Given the description of an element on the screen output the (x, y) to click on. 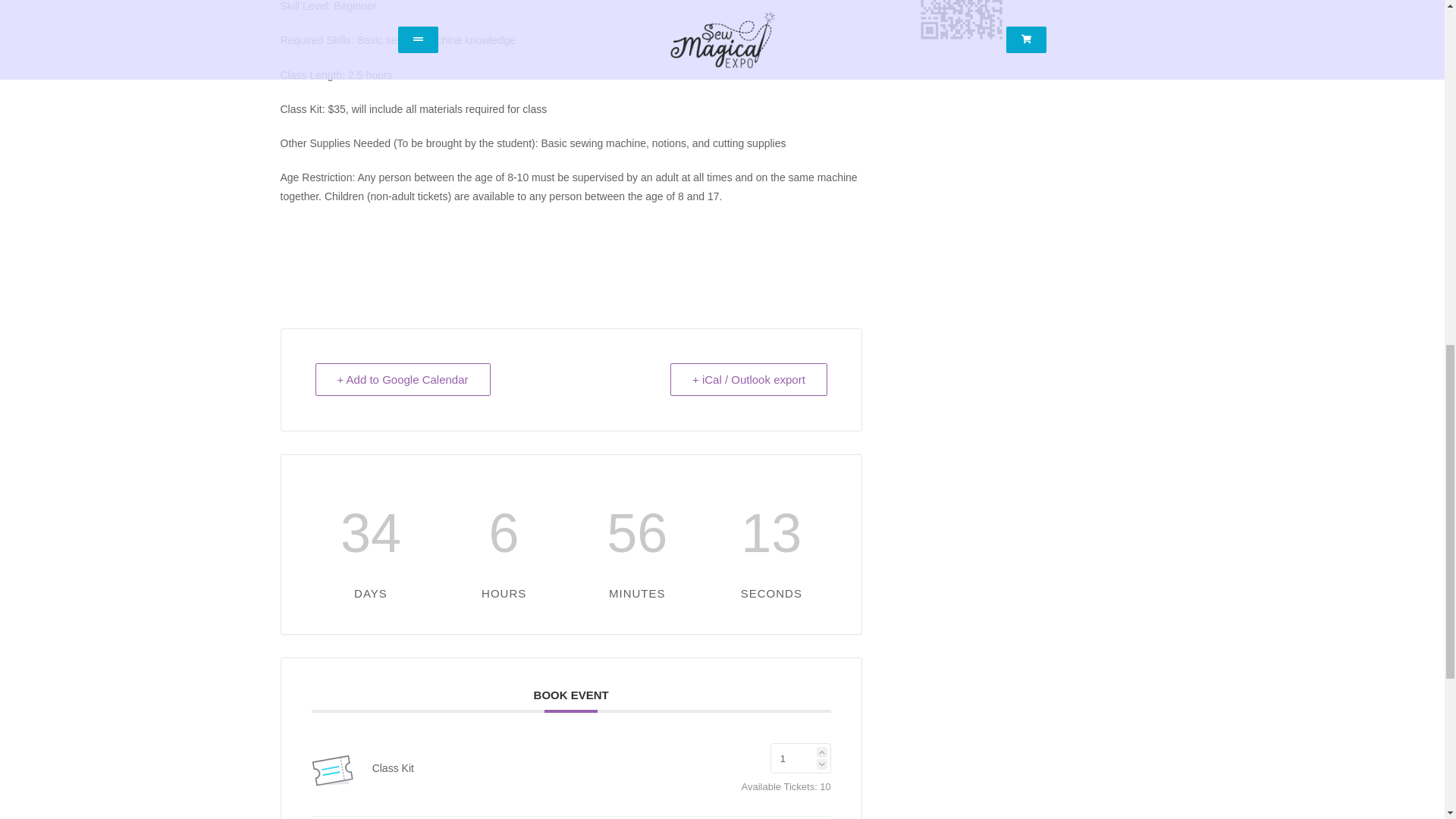
Count (800, 757)
1 (800, 757)
